Given the description of an element on the screen output the (x, y) to click on. 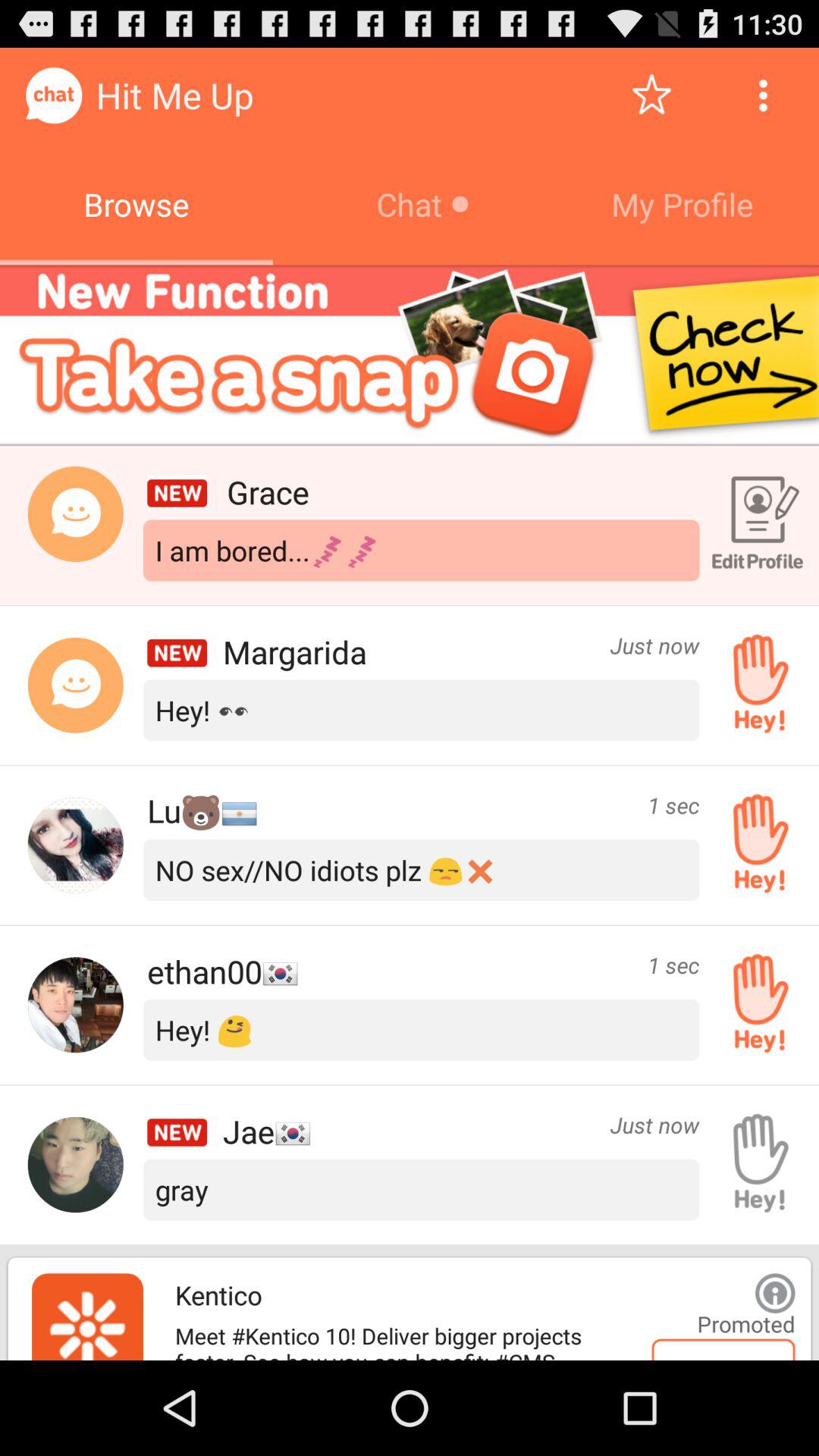
favorite (651, 95)
